Given the description of an element on the screen output the (x, y) to click on. 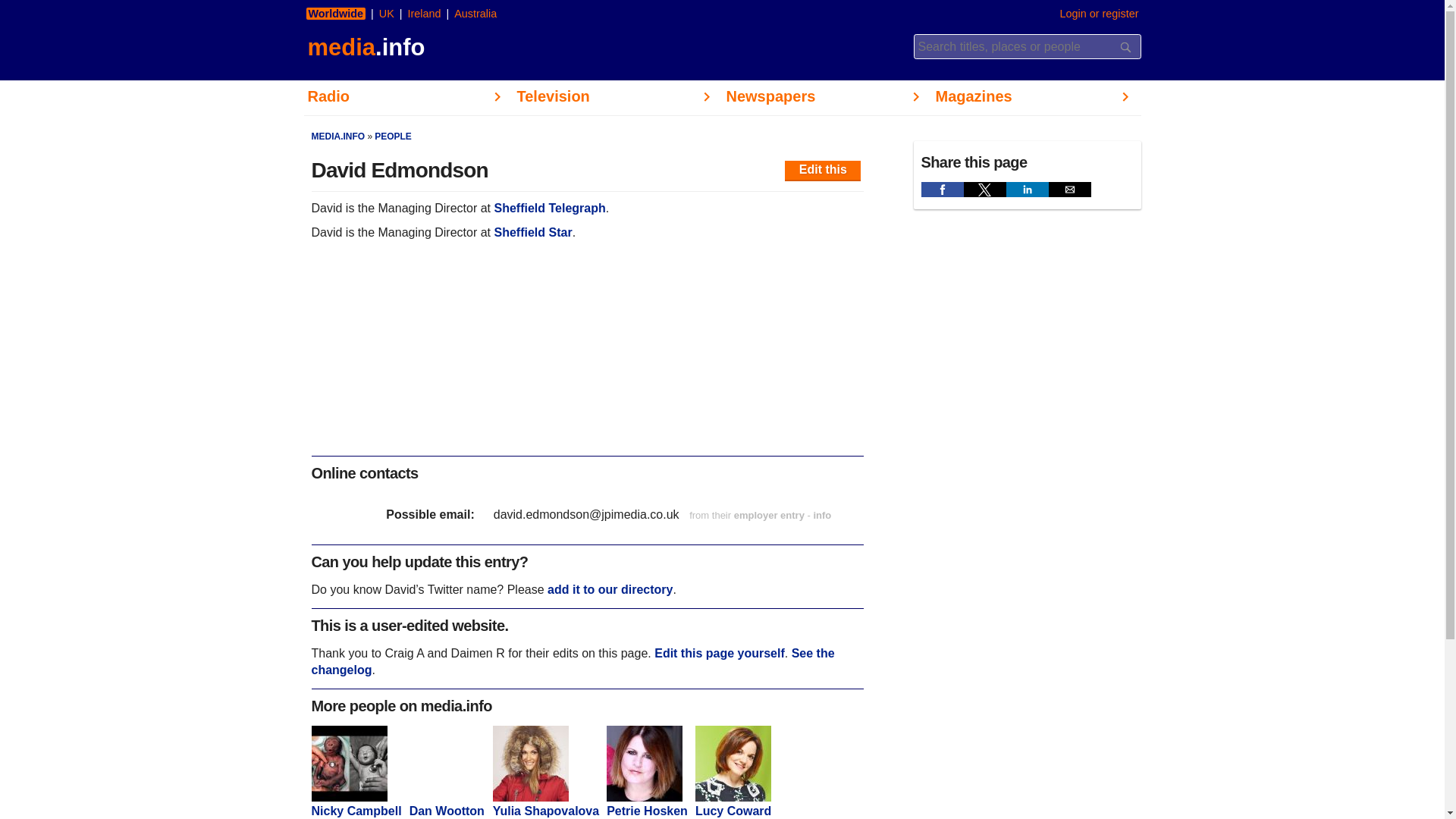
Yulia Shapovalova (546, 804)
Worldwide (335, 13)
PEOPLE (393, 136)
Dan Wootton (446, 804)
Australia (475, 13)
3rd party ad content (587, 357)
media.info (363, 47)
Ireland (423, 13)
Nicky Campbell (356, 804)
Radio (407, 98)
